Given the description of an element on the screen output the (x, y) to click on. 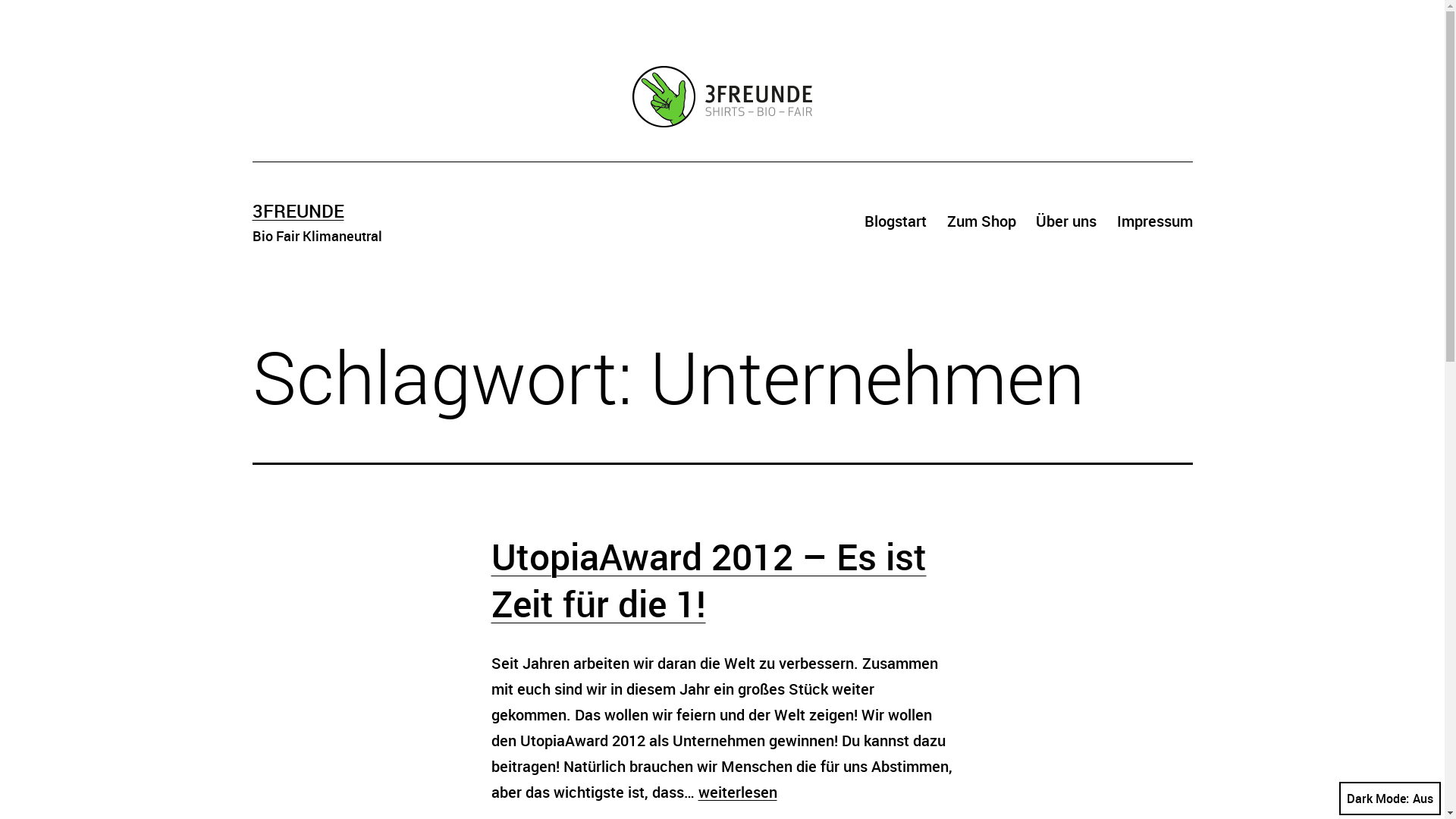
Zum Shop Element type: text (981, 220)
Impressum Element type: text (1153, 220)
3FREUNDE Element type: text (297, 210)
Blogstart Element type: text (895, 220)
Dark Mode: Element type: text (1389, 798)
